Given the description of an element on the screen output the (x, y) to click on. 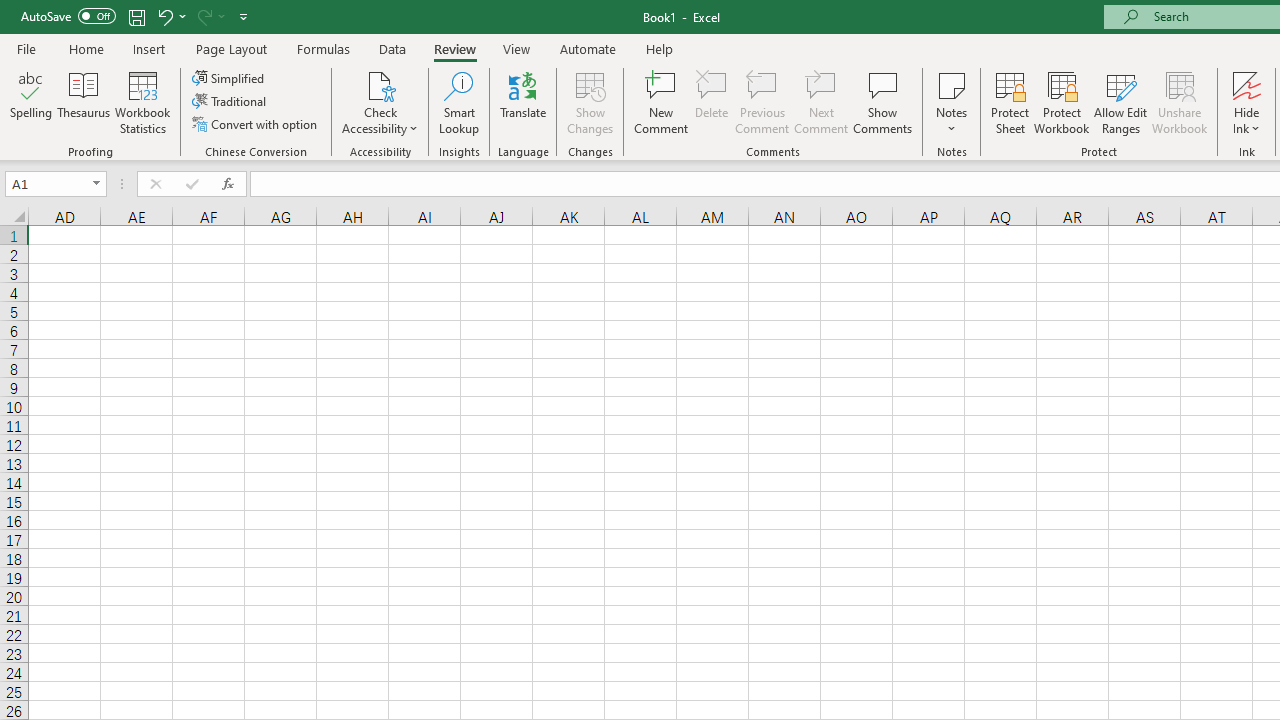
Protect Workbook... (1061, 102)
Convert with option (256, 124)
New Comment (661, 102)
Protect Sheet... (1010, 102)
Unshare Workbook (1179, 102)
Traditional (230, 101)
